Given the description of an element on the screen output the (x, y) to click on. 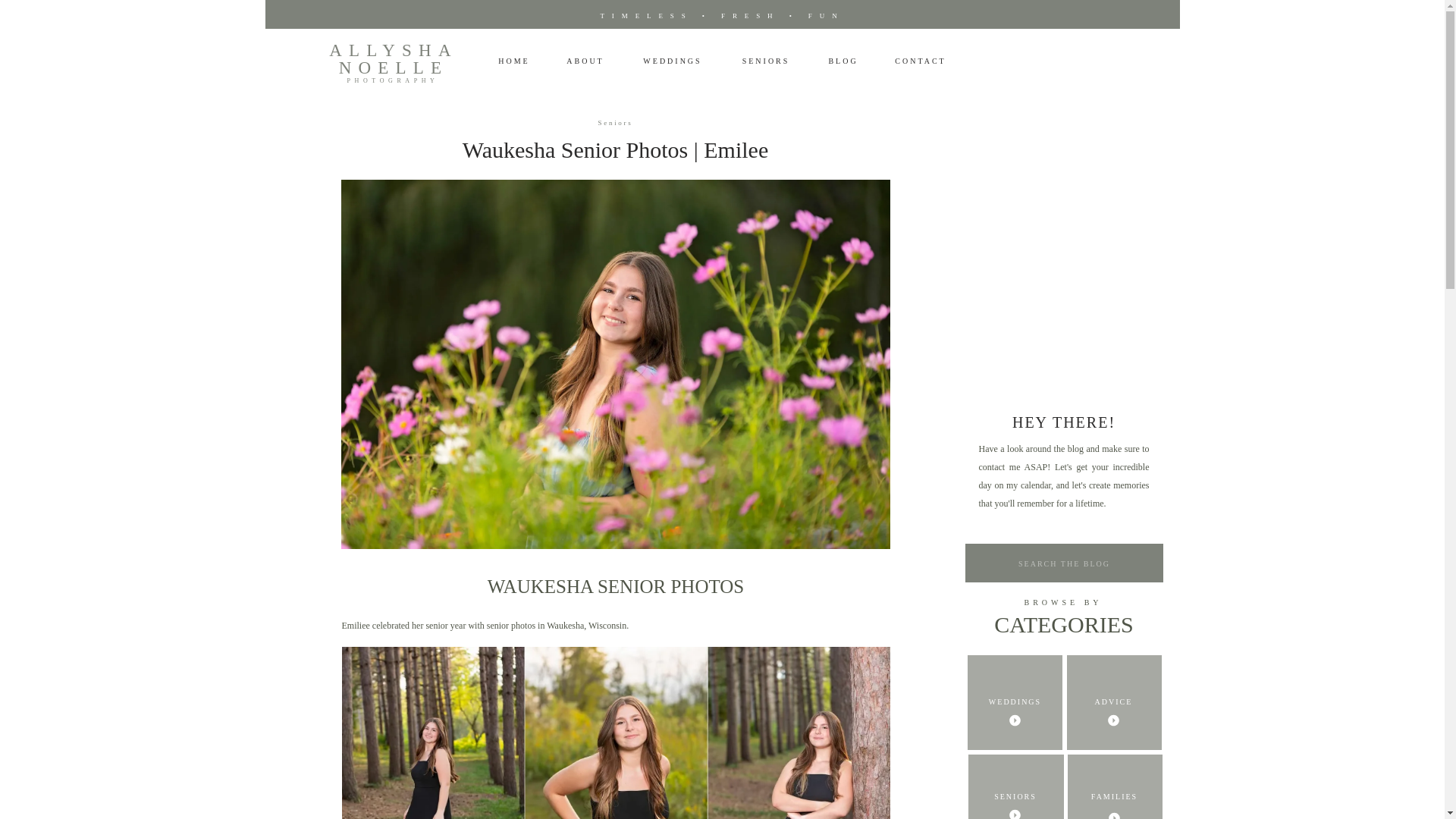
WEDDINGS (671, 62)
SENIORS (764, 61)
SENIORS (1016, 797)
WEDDINGS (1015, 702)
CONTACT (920, 62)
FAMILIES (1114, 798)
ADVICE (1112, 703)
Seniors (615, 122)
HOME (513, 61)
BLOG (843, 61)
ALLYSHA NOELLE (393, 61)
ABOUT (584, 61)
